Given the description of an element on the screen output the (x, y) to click on. 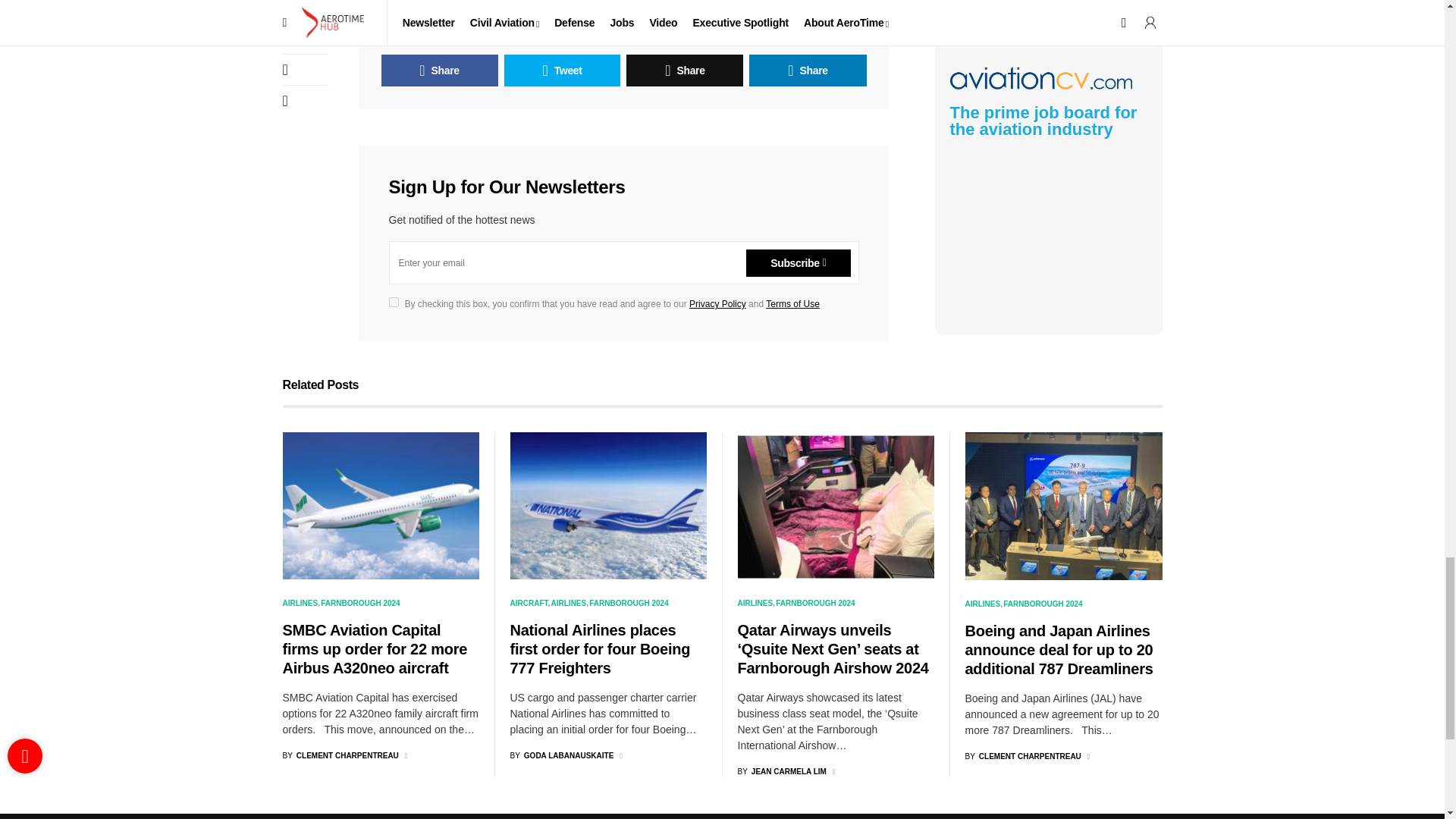
View all posts by Goda Labanauskaite (560, 755)
View all posts by Jean Carmela Lim (780, 771)
on (392, 302)
View all posts by Clement Charpentreau (339, 755)
View all posts by Clement Charpentreau (1021, 756)
